Given the description of an element on the screen output the (x, y) to click on. 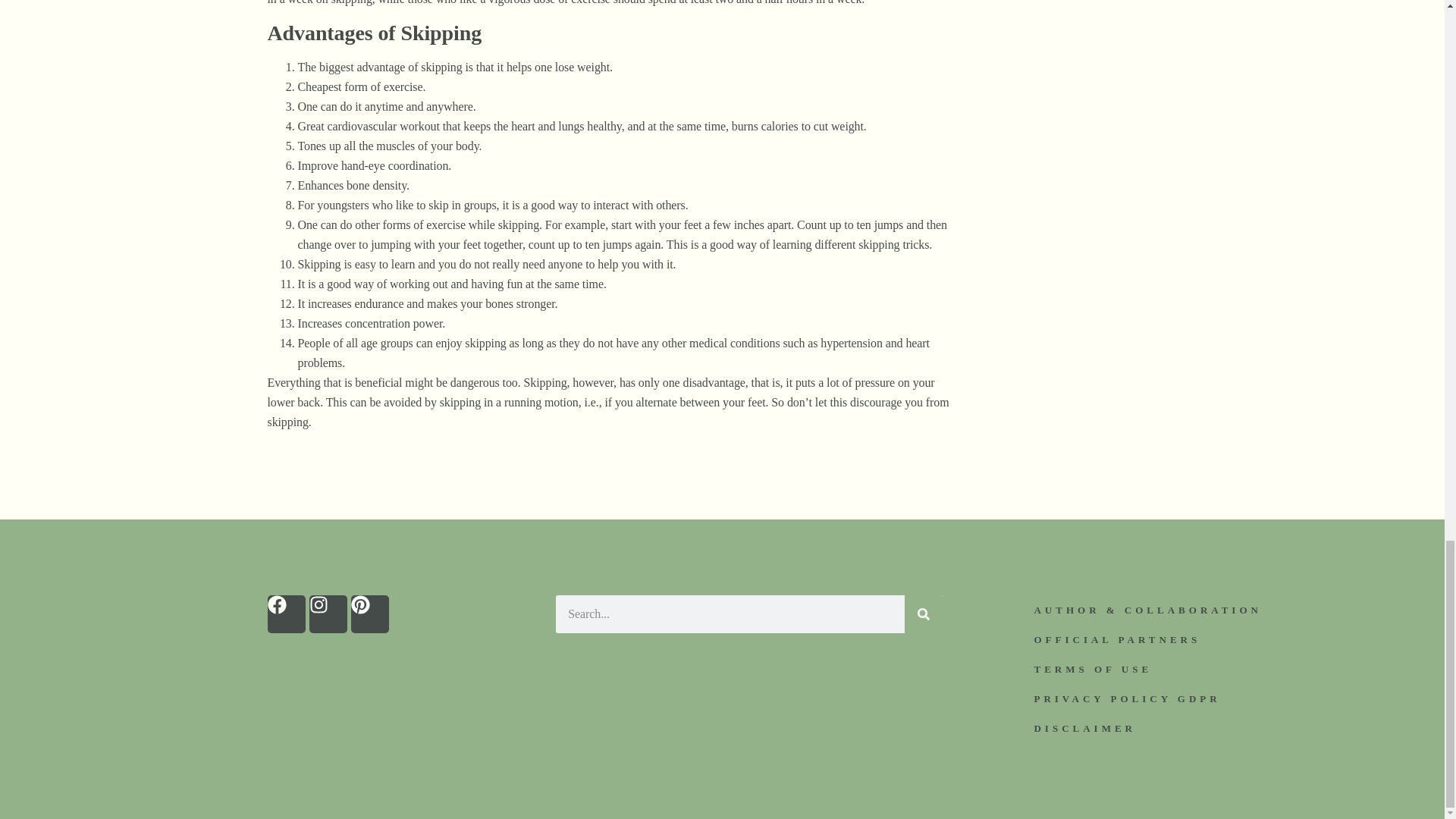
DISCLAIMER (1084, 727)
TERMS OF USE (1092, 668)
PRIVACY POLICY GDPR (1125, 698)
OFFICIAL PARTNERS (1116, 639)
